Given the description of an element on the screen output the (x, y) to click on. 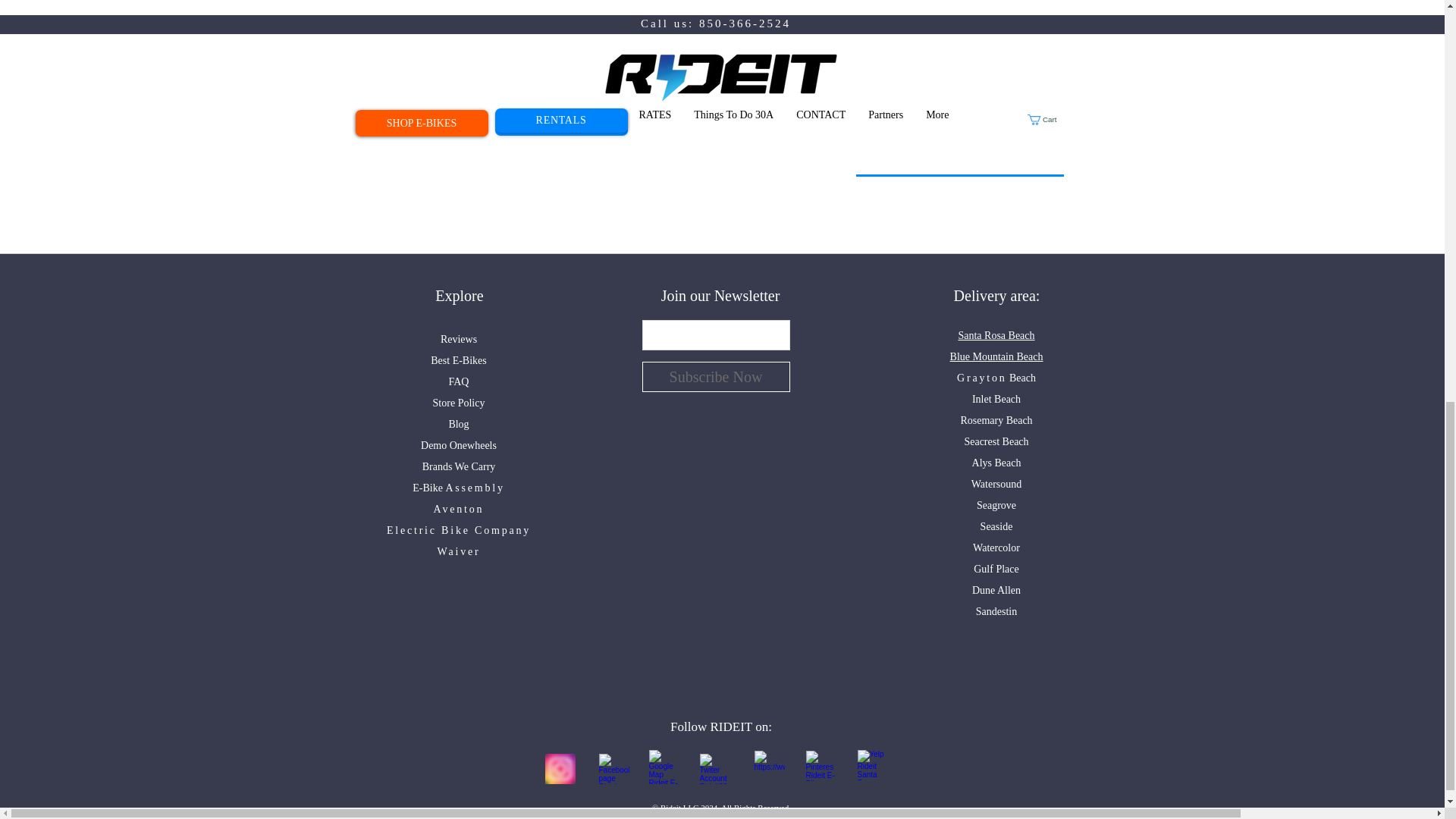
Subscribe Now (715, 376)
Store Policy (458, 402)
E-Bike Assembly (458, 487)
Brands We Carry (459, 466)
Blog (458, 423)
Reviews (459, 338)
FAQ (458, 381)
Add To Cart (959, 112)
Aventon (458, 509)
Santa Rosa Beach (995, 335)
Electric Bike Company (459, 530)
1 (897, 48)
Blue Mountain Beach (996, 356)
Buy Now (959, 157)
Demo Onewheels (458, 445)
